Given the description of an element on the screen output the (x, y) to click on. 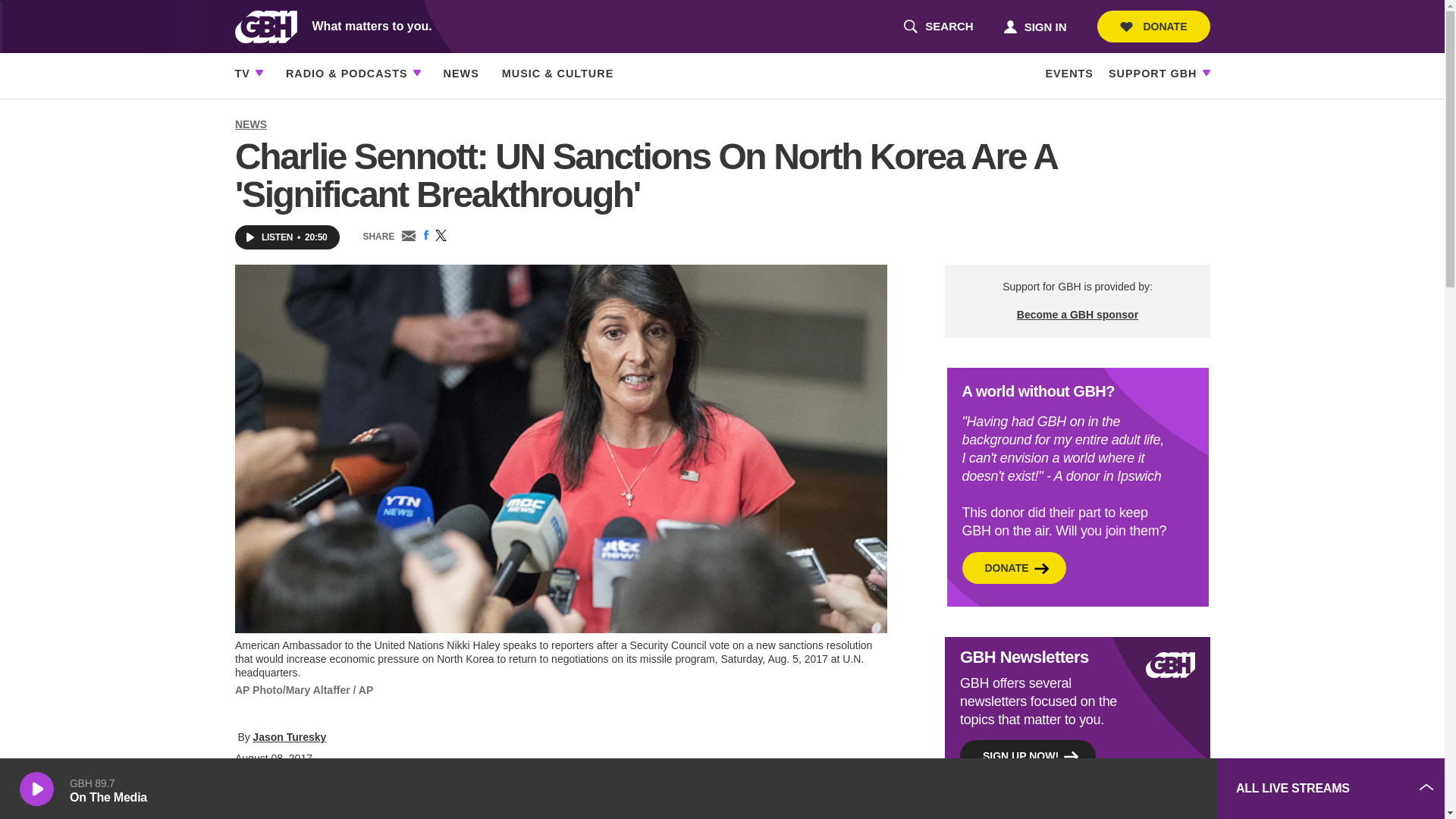
DONATE (1153, 26)
SIGN IN (937, 26)
